Given the description of an element on the screen output the (x, y) to click on. 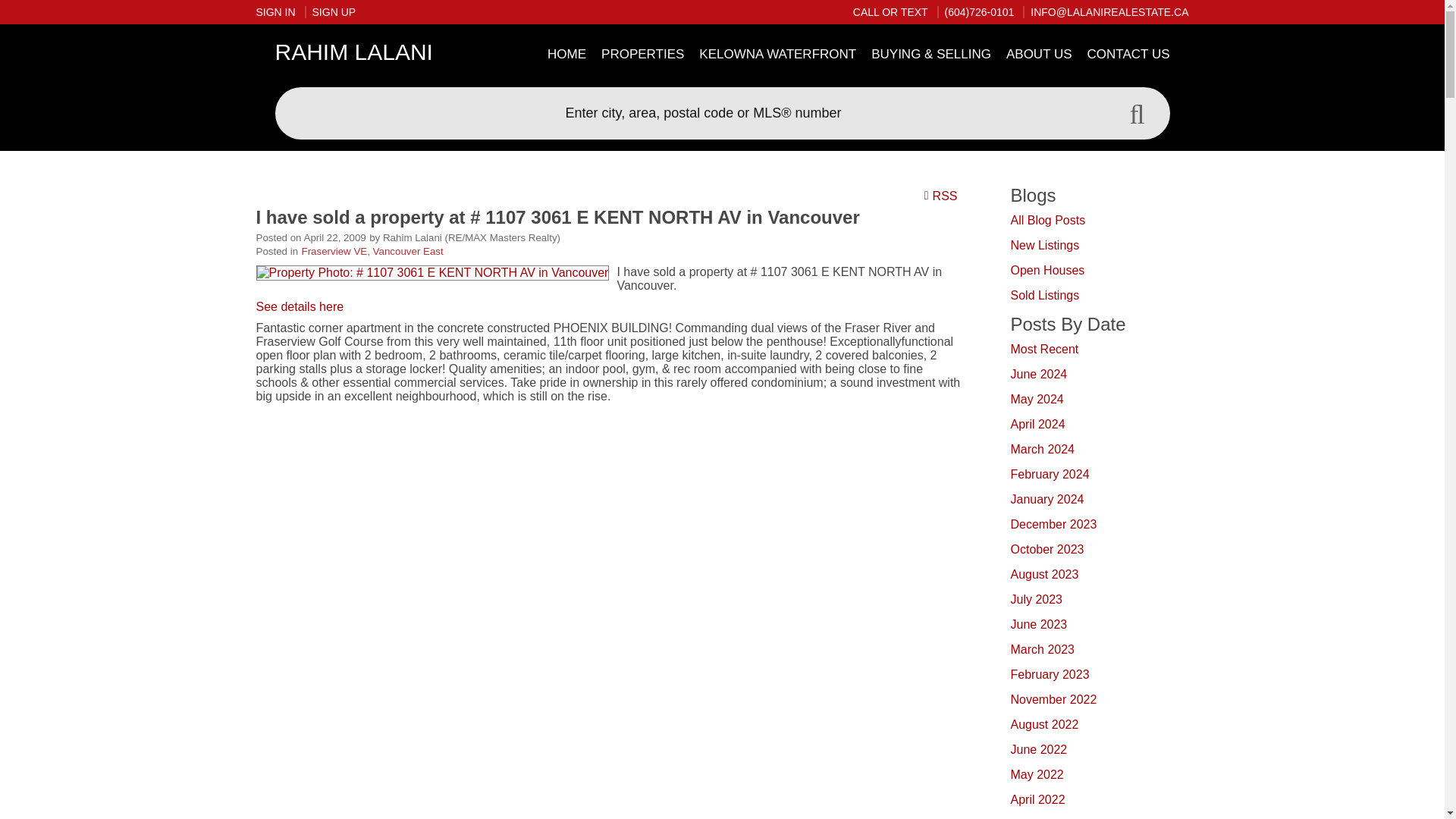
March 2024 (1042, 449)
Most Recent (1044, 349)
October 2023 (1046, 549)
New Listings (1044, 245)
See details here (299, 306)
Open Houses (1047, 269)
RSS (942, 195)
PROPERTIES (642, 54)
January 2024 (1046, 499)
ABOUT US (1039, 54)
